Given the description of an element on the screen output the (x, y) to click on. 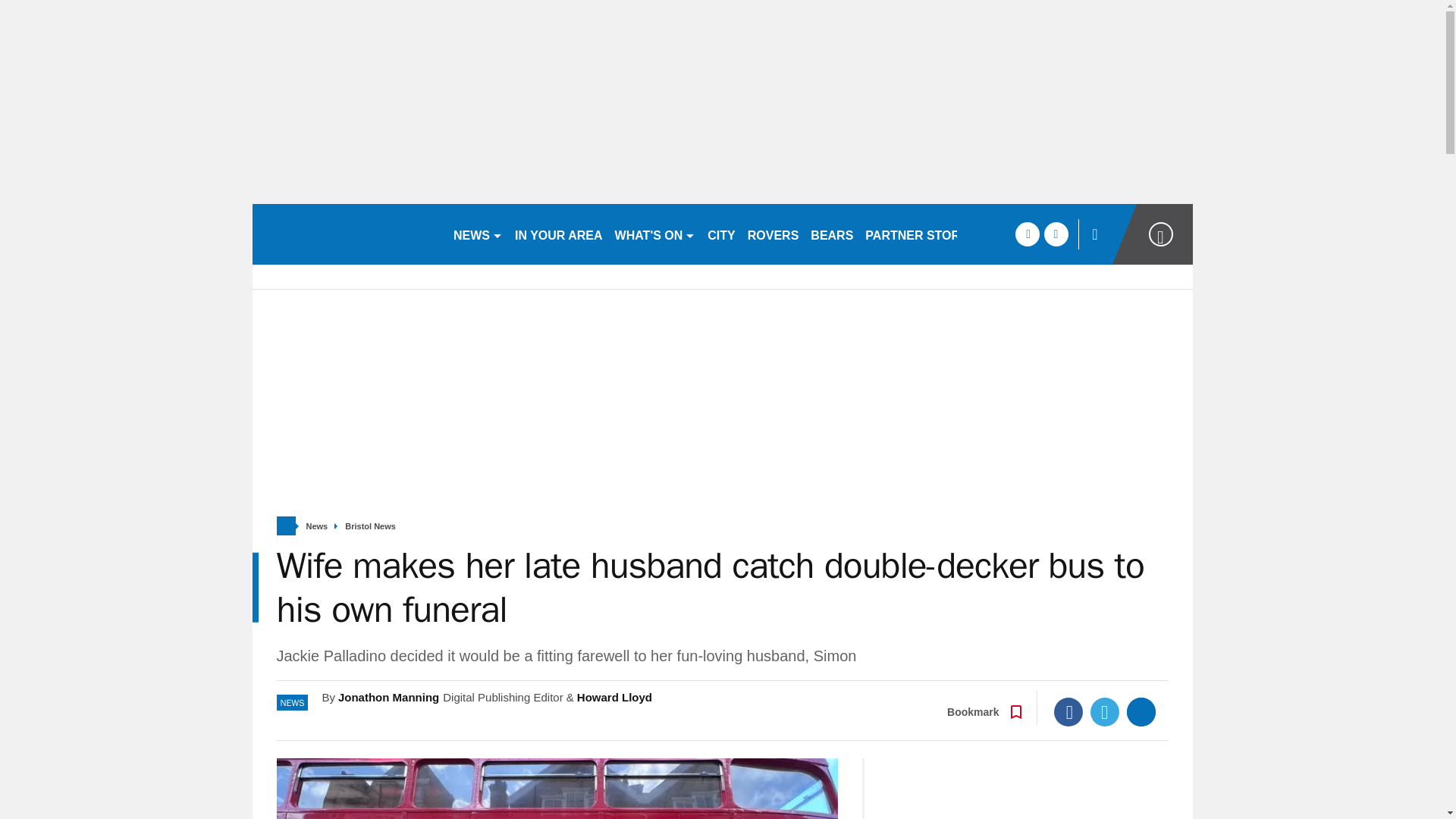
IN YOUR AREA (558, 233)
PARTNER STORIES (922, 233)
bristolpost (345, 233)
BEARS (832, 233)
NEWS (477, 233)
Twitter (1104, 711)
twitter (1055, 233)
Facebook (1068, 711)
WHAT'S ON (654, 233)
ROVERS (773, 233)
